Given the description of an element on the screen output the (x, y) to click on. 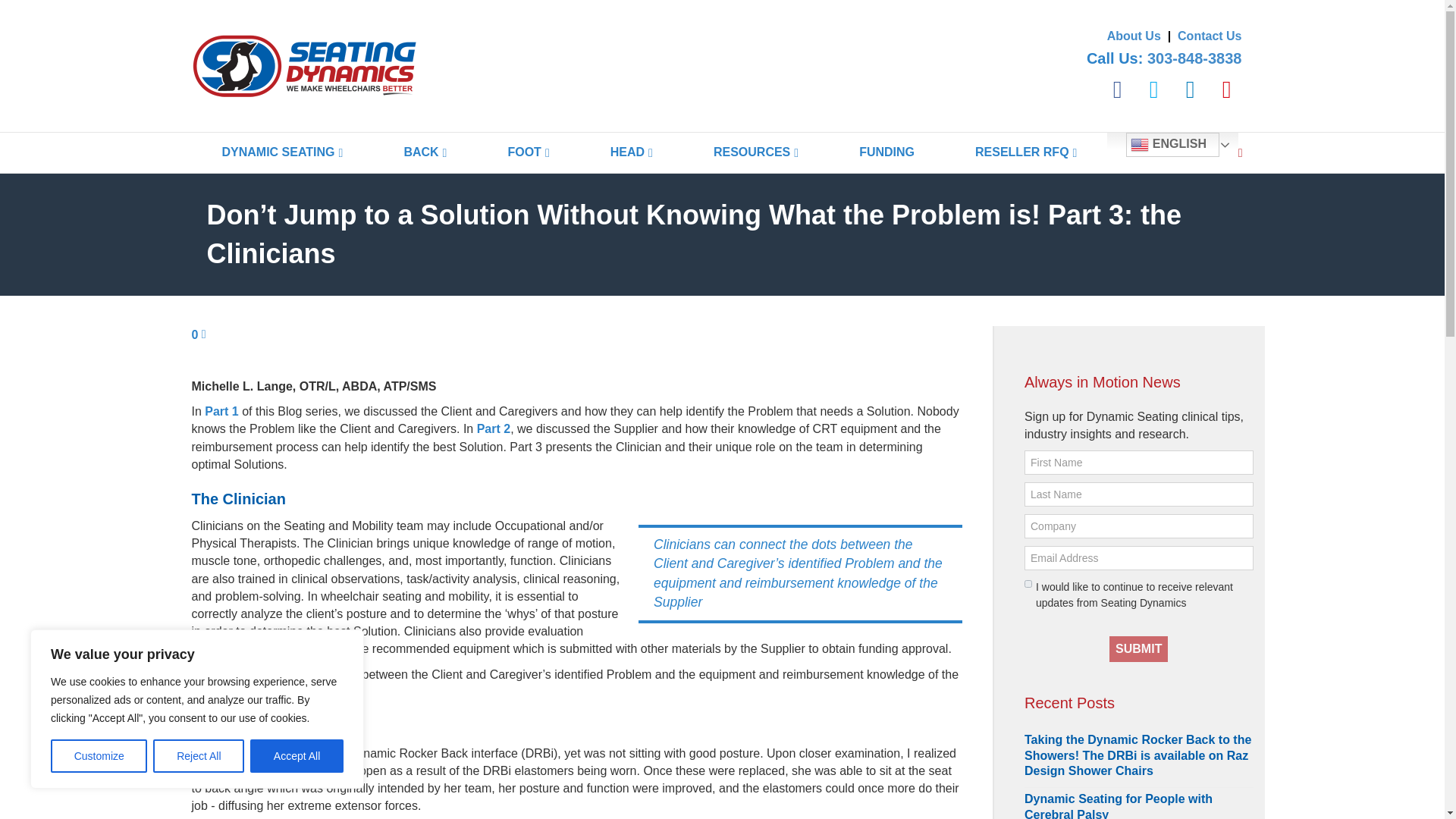
Facebook (1117, 88)
Customize (98, 756)
DYNAMIC SEATING (283, 152)
BACK (424, 152)
Contact Us (1209, 35)
303-848-3838 (1194, 57)
About Us (1133, 35)
Accept All (296, 756)
Linkedin (1189, 88)
Twitter (1153, 88)
Reject All (198, 756)
Youtube (1226, 88)
